Given the description of an element on the screen output the (x, y) to click on. 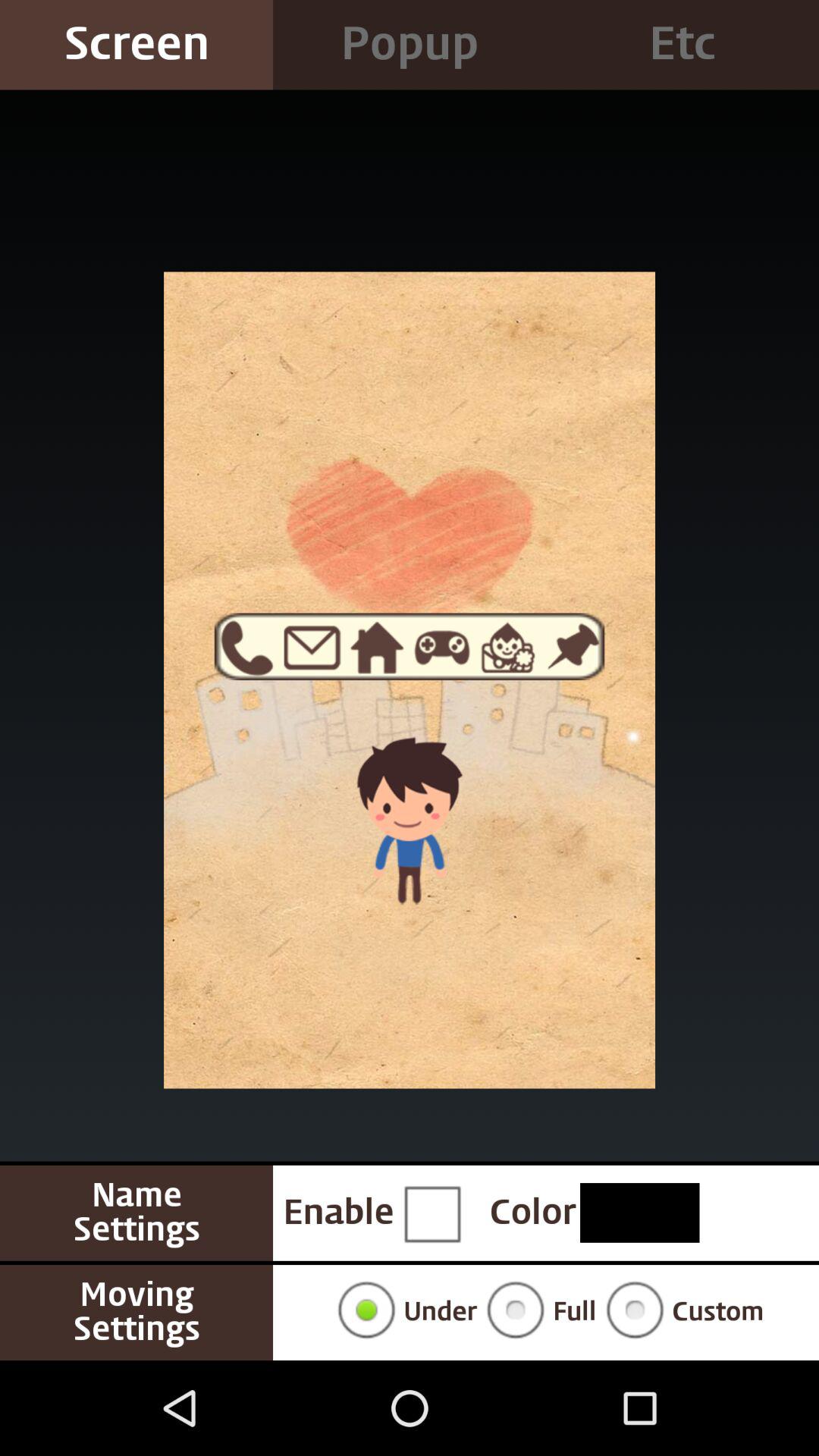
select to enable name (431, 1212)
